Given the description of an element on the screen output the (x, y) to click on. 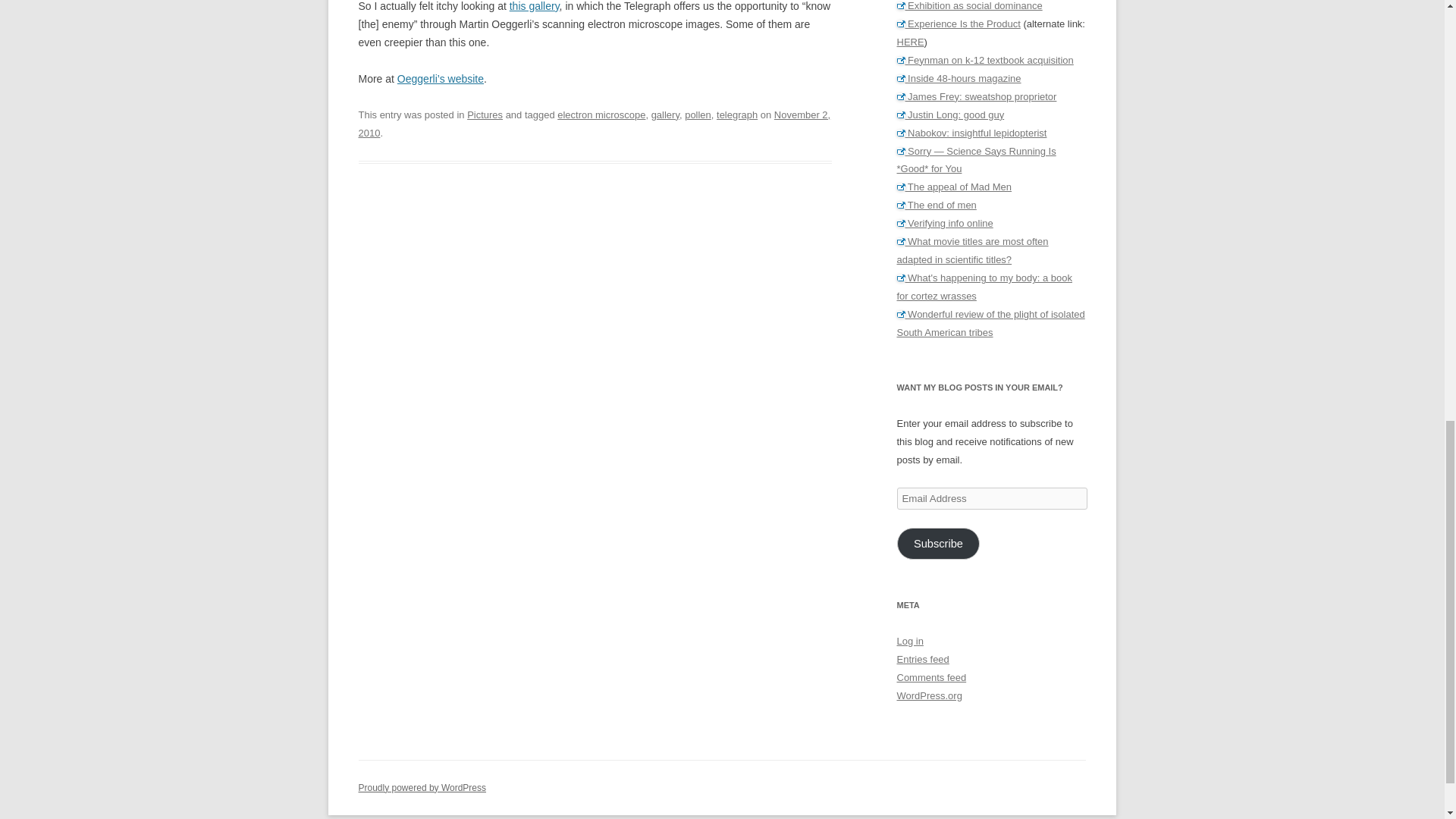
James Frey: sweatshop proprietor (976, 96)
pollen (697, 114)
Experience Is the Product (958, 23)
telegraph (736, 114)
Semantic Personal Publishing Platform (422, 787)
Pictures (484, 114)
this gallery (534, 6)
Justin Long: good guy (950, 114)
November 2, 2010 (593, 123)
HERE (909, 41)
electron microscope (601, 114)
Feynman on k-12 textbook acquisition (984, 60)
8:25 AM (593, 123)
gallery (664, 114)
Inside 48-hours magazine (958, 78)
